Given the description of an element on the screen output the (x, y) to click on. 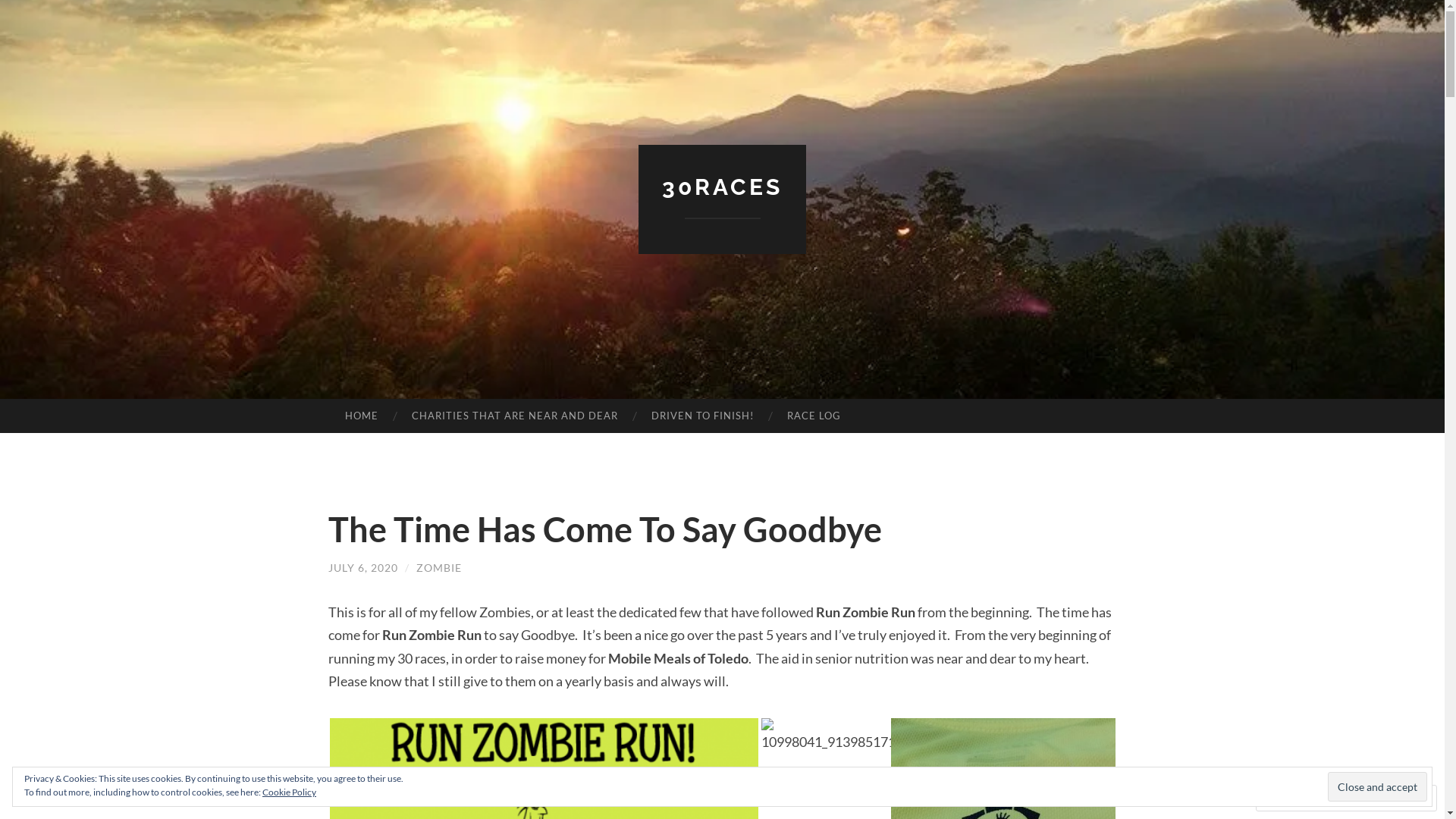
Close and accept Element type: text (1377, 786)
RACE LOG Element type: text (813, 415)
Follow Element type: text (1372, 797)
JULY 6, 2020 Element type: text (362, 567)
ZOMBIE Element type: text (438, 567)
Comment Element type: text (1297, 797)
HOME Element type: text (360, 415)
CHARITIES THAT ARE NEAR AND DEAR Element type: text (514, 415)
Cookie Policy Element type: text (289, 791)
DRIVEN TO FINISH! Element type: text (702, 415)
30RACES Element type: text (722, 186)
10998041_913985171987692_1915679352342282664_n Element type: hover (826, 735)
